Given the description of an element on the screen output the (x, y) to click on. 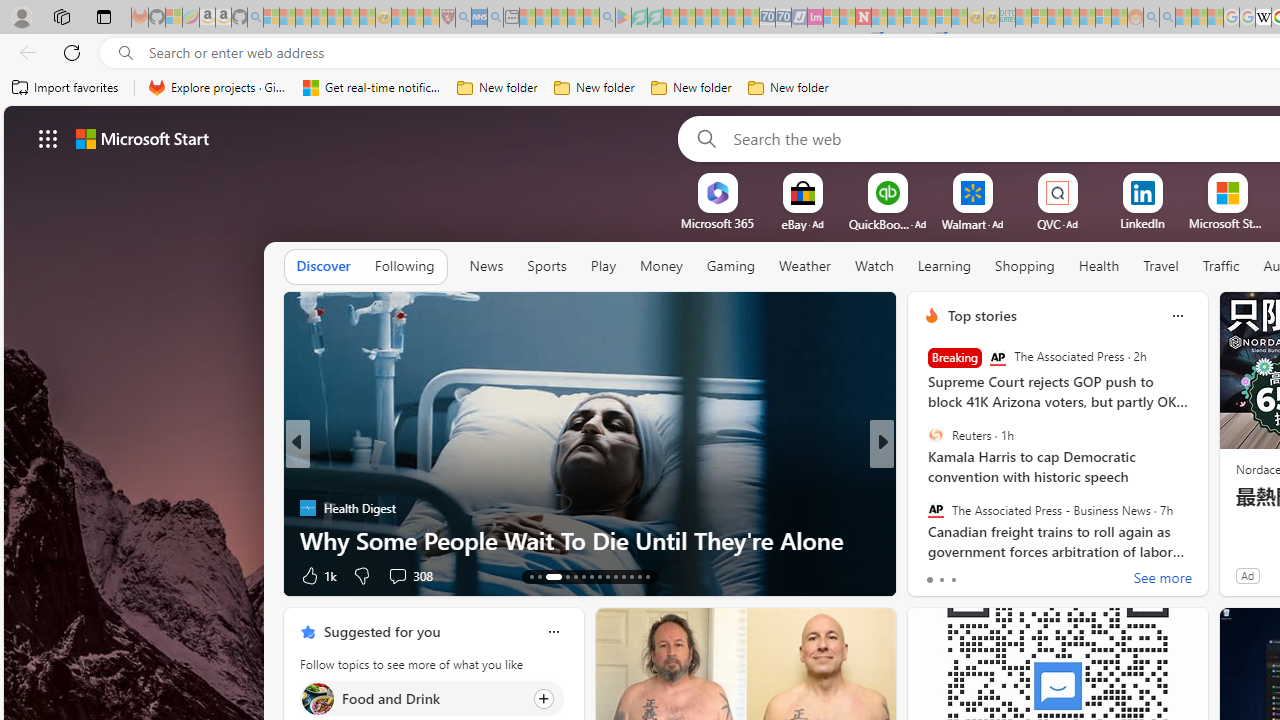
Target page - Wikipedia (1263, 17)
AutomationID: tab-15 (553, 576)
View comments 3 Comment (1014, 575)
utah sues federal government - Search - Sleeping (495, 17)
View comments 84 Comment (1029, 574)
684 Like (936, 574)
CNBC (923, 475)
Click to follow topic Food and Drink (431, 698)
AutomationID: tab-22 (614, 576)
